Given the description of an element on the screen output the (x, y) to click on. 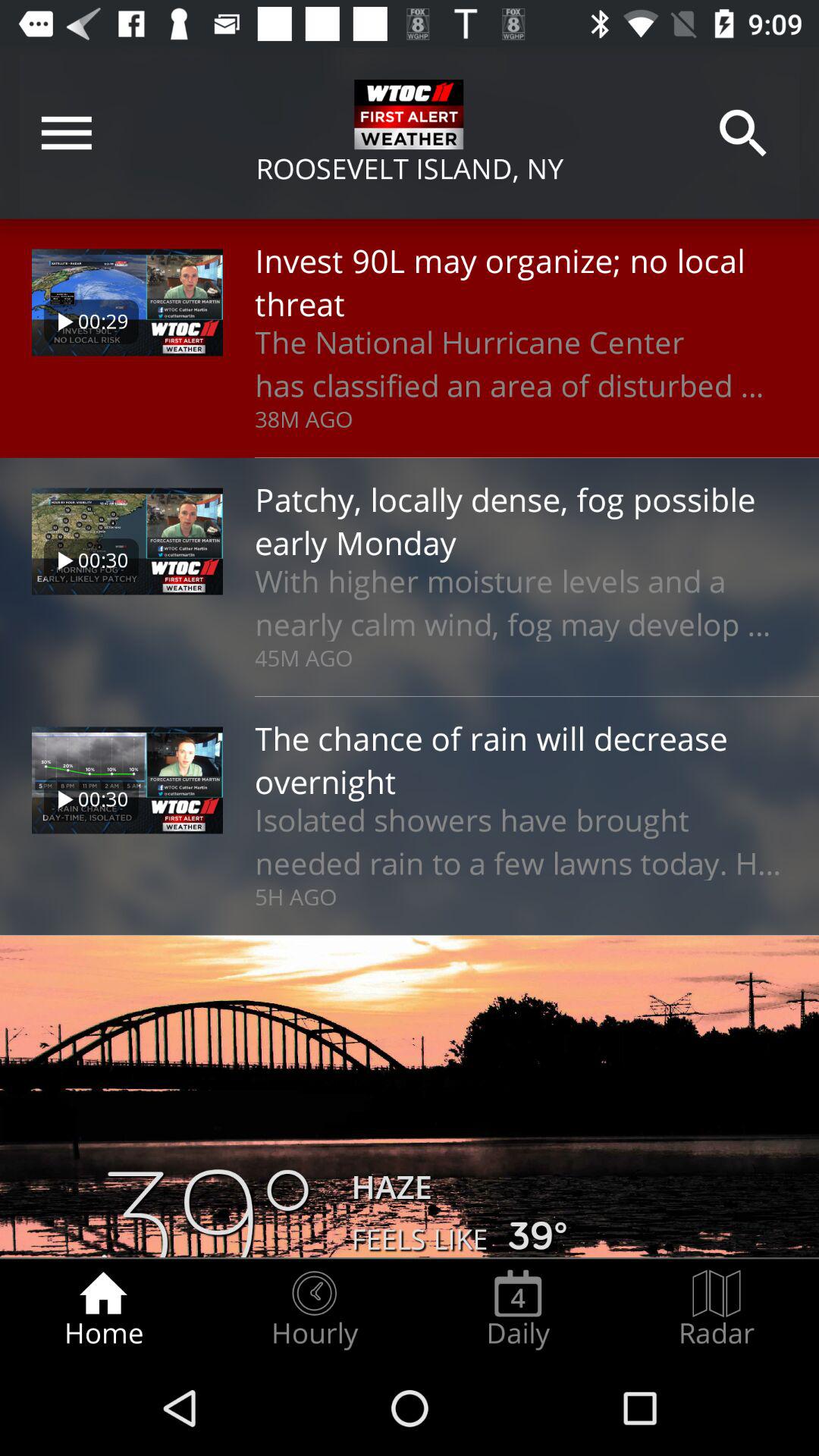
click the radar radio button (716, 1309)
